Given the description of an element on the screen output the (x, y) to click on. 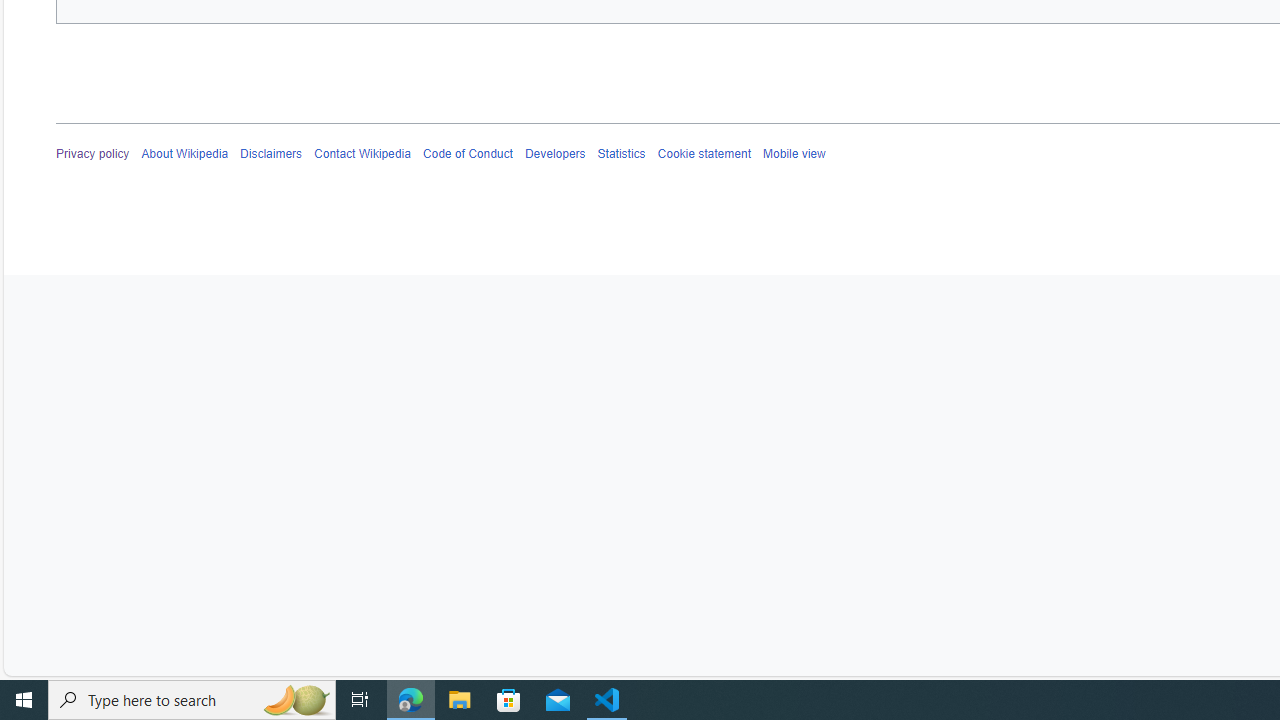
Contact Wikipedia (361, 154)
Privacy policy (93, 154)
Developers (554, 154)
Disclaimers (271, 154)
Code of Conduct (467, 154)
Developers (554, 154)
Cookie statement (703, 154)
Code of Conduct (467, 154)
Cookie statement (703, 154)
Statistics (621, 154)
Disclaimers (271, 154)
Mobile view (793, 154)
Statistics (621, 154)
Privacy policy (93, 154)
About Wikipedia (184, 154)
